Given the description of an element on the screen output the (x, y) to click on. 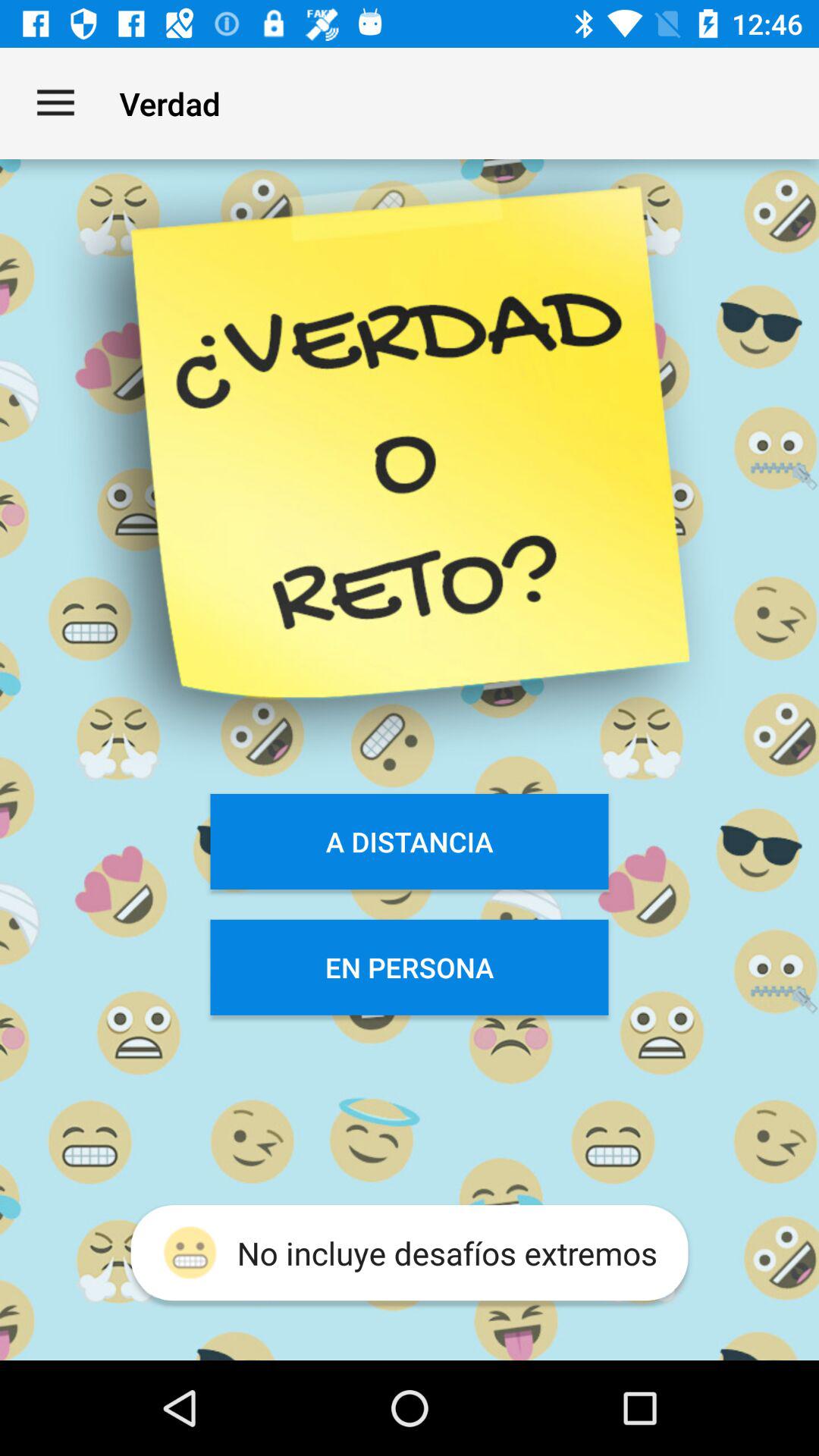
choose the icon below en persona (409, 1252)
